Given the description of an element on the screen output the (x, y) to click on. 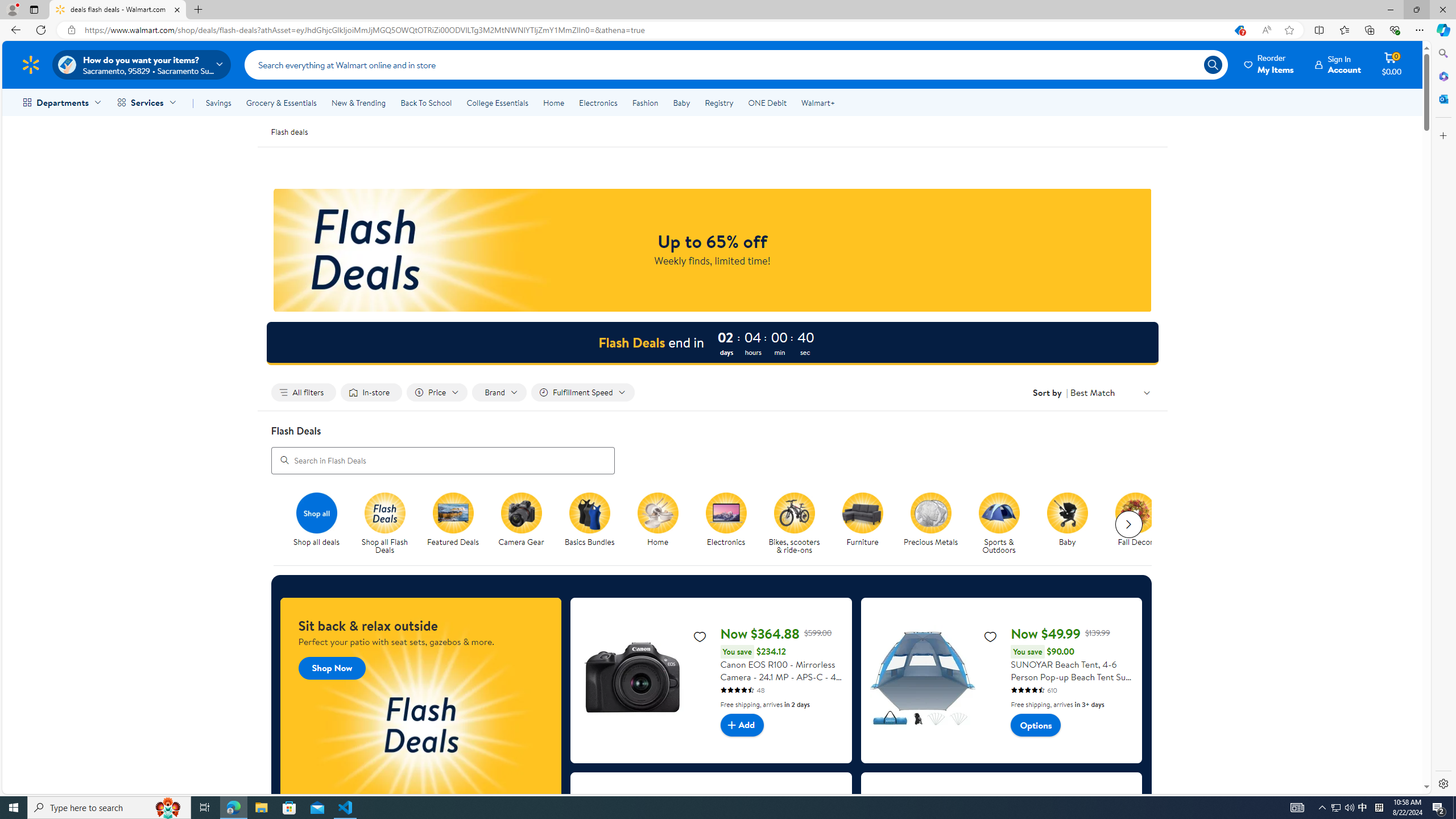
New & Trending (358, 102)
Fall Decor (1135, 512)
Furniture (862, 512)
Sign In Account (1338, 64)
Home Home (657, 519)
Featured Deals Featured Deals (453, 519)
Baby (1066, 512)
This site has coupons! Shopping in Microsoft Edge, 7 (1239, 29)
